Given the description of an element on the screen output the (x, y) to click on. 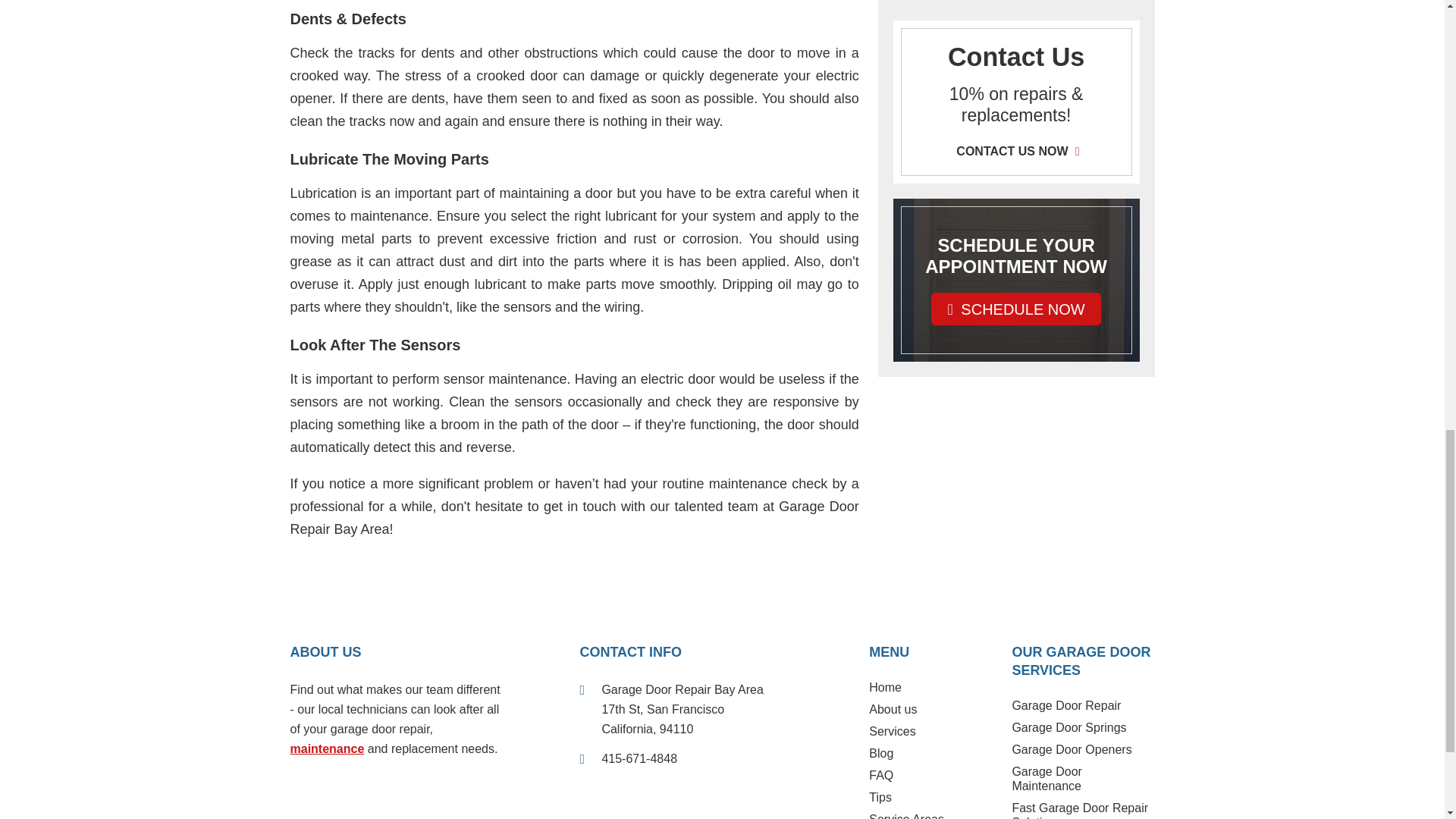
Garage door maintenance (326, 748)
